Given the description of an element on the screen output the (x, y) to click on. 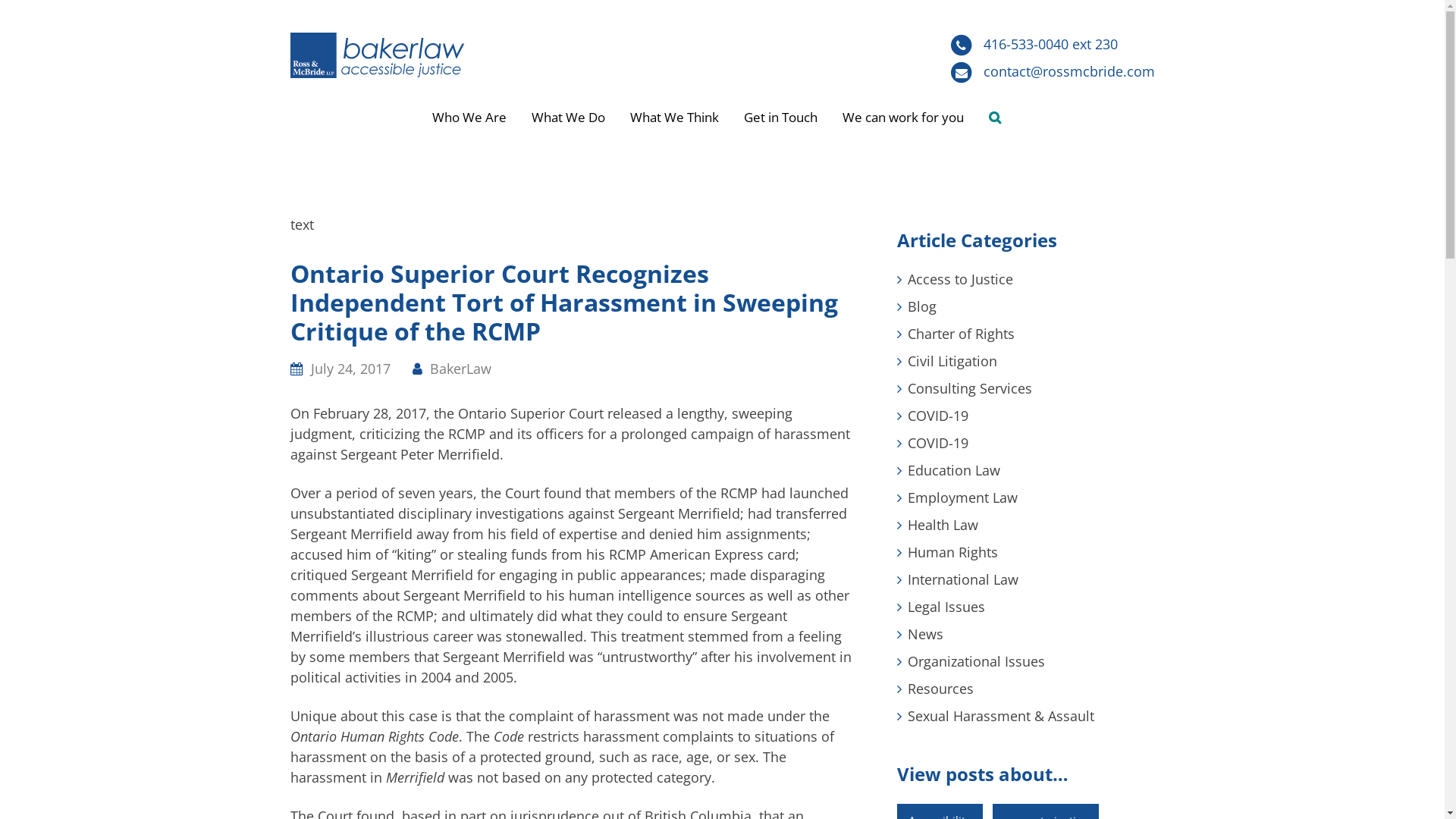
COVID-19 Element type: text (936, 415)
Civil Litigation Element type: text (951, 360)
Legal Issues Element type: text (945, 606)
Access to Justice Element type: text (959, 278)
Human Rights Element type: text (951, 551)
International Law Element type: text (961, 579)
Health Law Element type: text (941, 524)
Charter of Rights Element type: text (959, 333)
What We Think Element type: text (674, 118)
Education Law Element type: text (952, 470)
Consulting Services Element type: text (968, 388)
Blog Element type: text (920, 306)
We can work for you Element type: text (902, 118)
COVID-19 Element type: text (936, 442)
Terms and Conditions Element type: text (915, 798)
Resources Element type: text (939, 688)
Privacy Policy Element type: text (801, 798)
What We Do Element type: text (567, 118)
News Element type: text (924, 633)
Sexual Harassment & Assault Element type: text (999, 715)
Submit Message Element type: text (869, 656)
Employment Law Element type: text (961, 497)
Who We Are Element type: text (469, 118)
Get in Touch Element type: text (780, 118)
Organizational Issues Element type: text (975, 661)
